Given the description of an element on the screen output the (x, y) to click on. 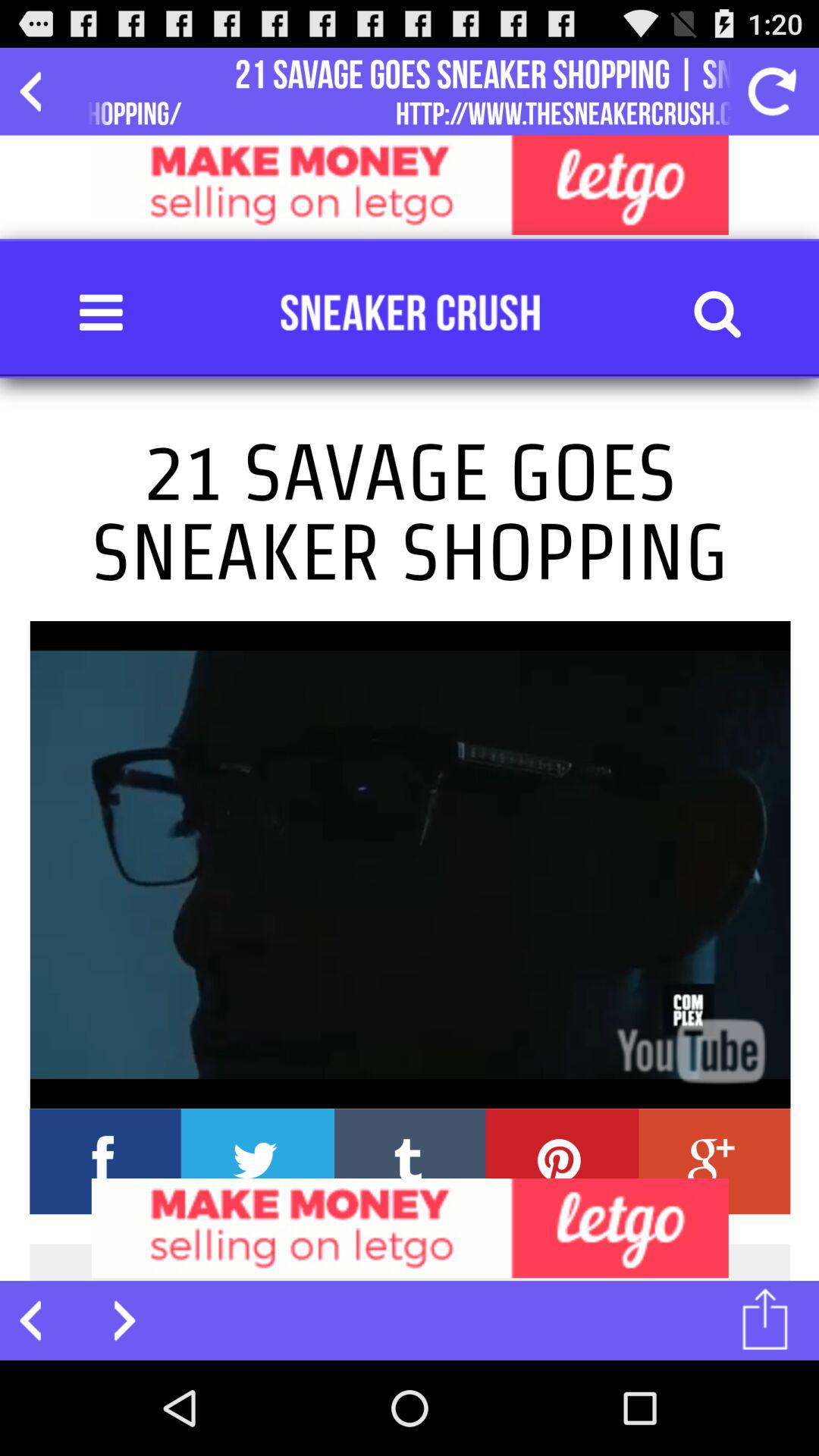
go back (39, 91)
